Given the description of an element on the screen output the (x, y) to click on. 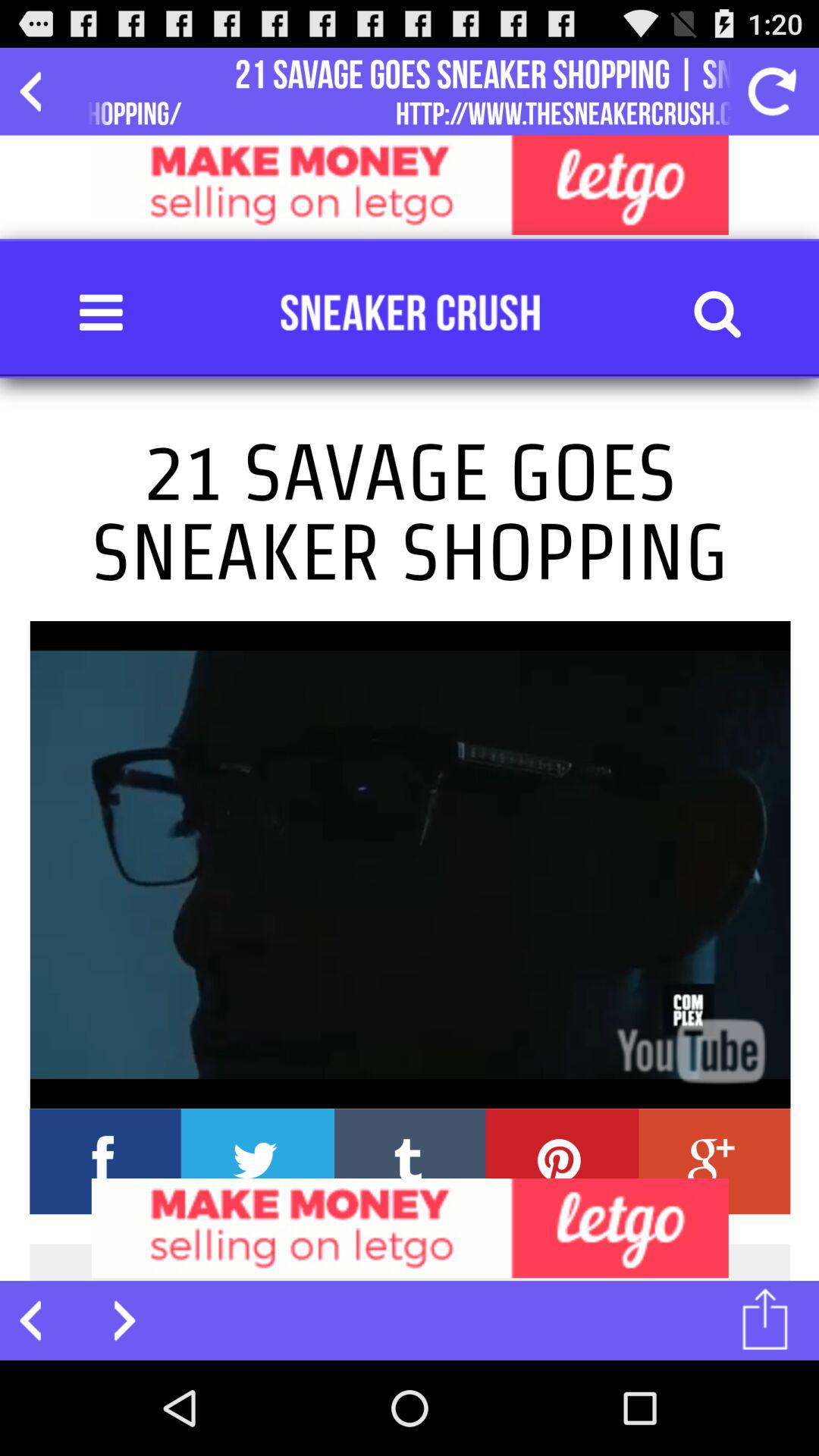
go back (39, 91)
